Given the description of an element on the screen output the (x, y) to click on. 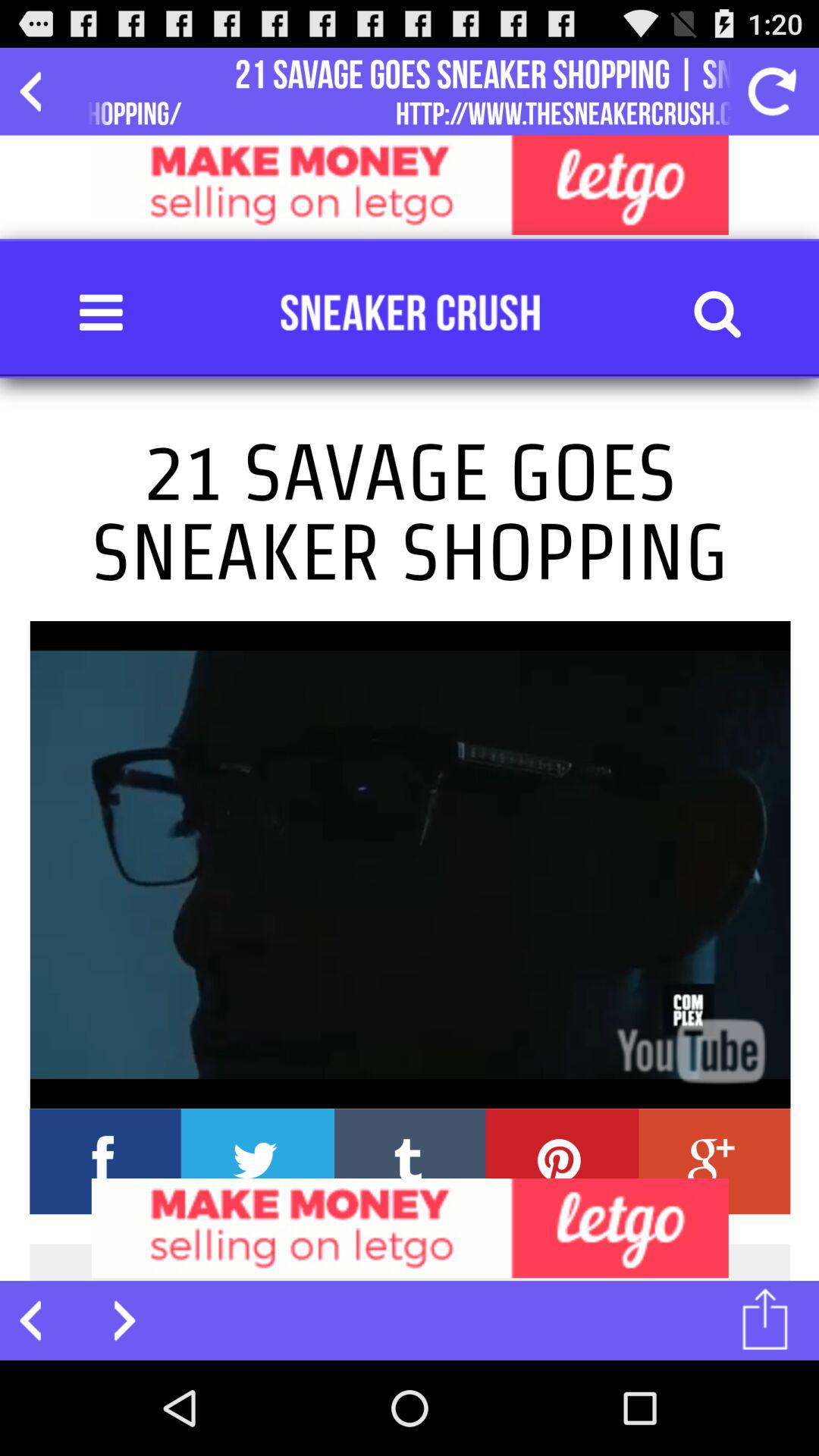
go back (39, 91)
